Given the description of an element on the screen output the (x, y) to click on. 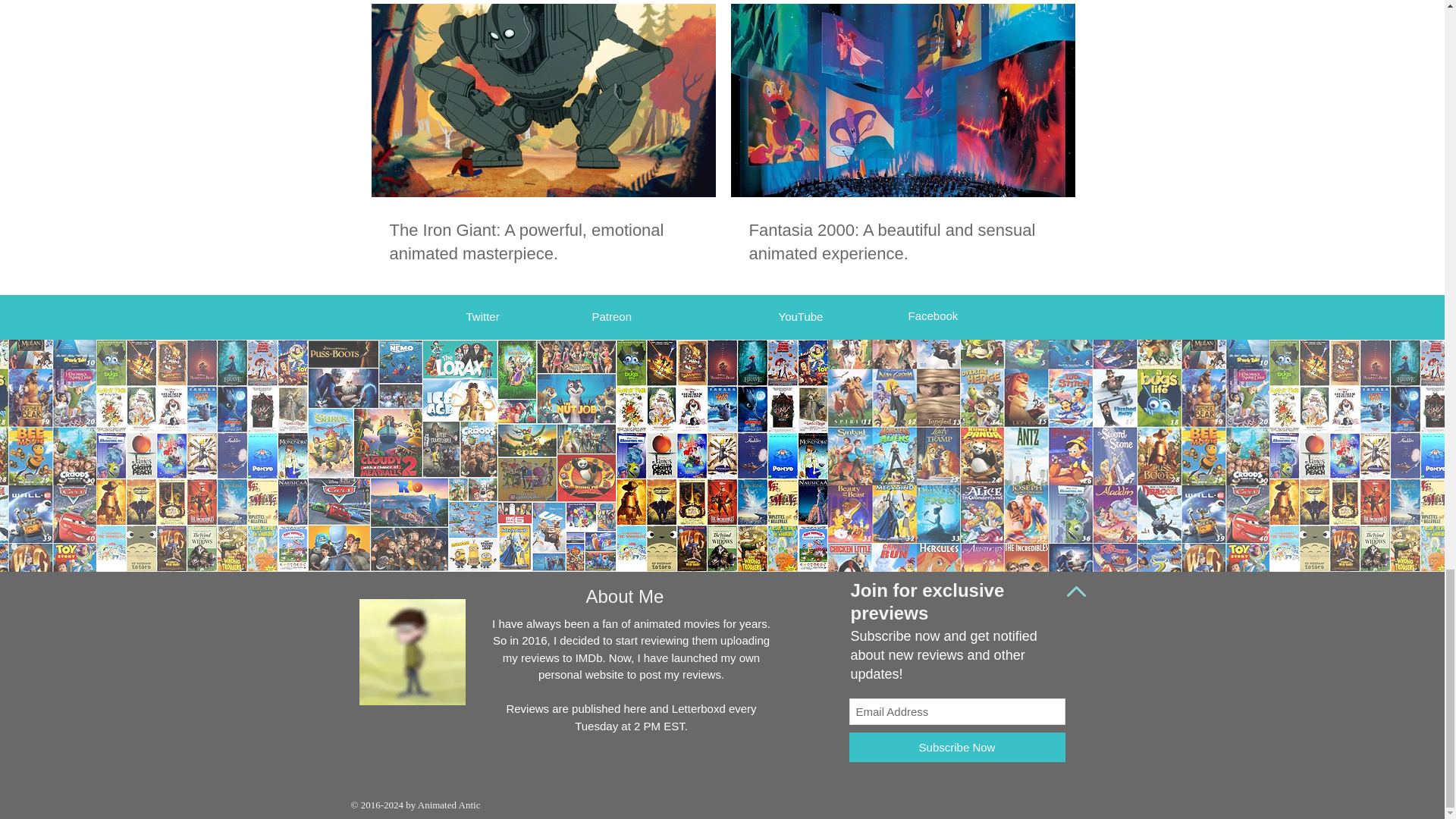
Twitter (482, 316)
Fantasia 2000: A beautiful and sensual animated experience. (903, 242)
Subscribe Now (956, 747)
Facebook (933, 315)
The Iron Giant: A powerful, emotional animated masterpiece. (543, 242)
YouTube (799, 316)
Patreon (611, 316)
